Given the description of an element on the screen output the (x, y) to click on. 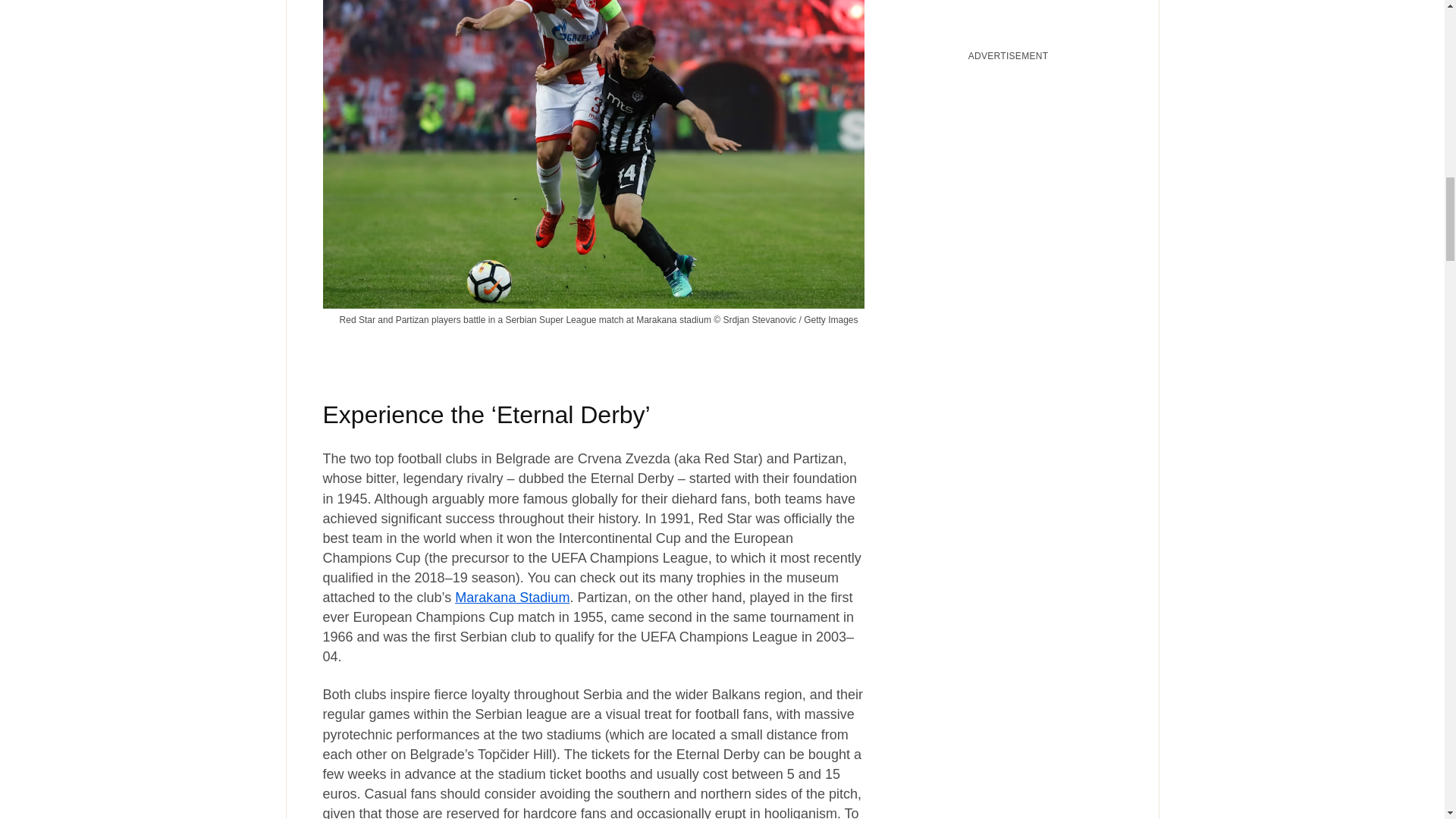
Marakana Stadium (511, 597)
